Given the description of an element on the screen output the (x, y) to click on. 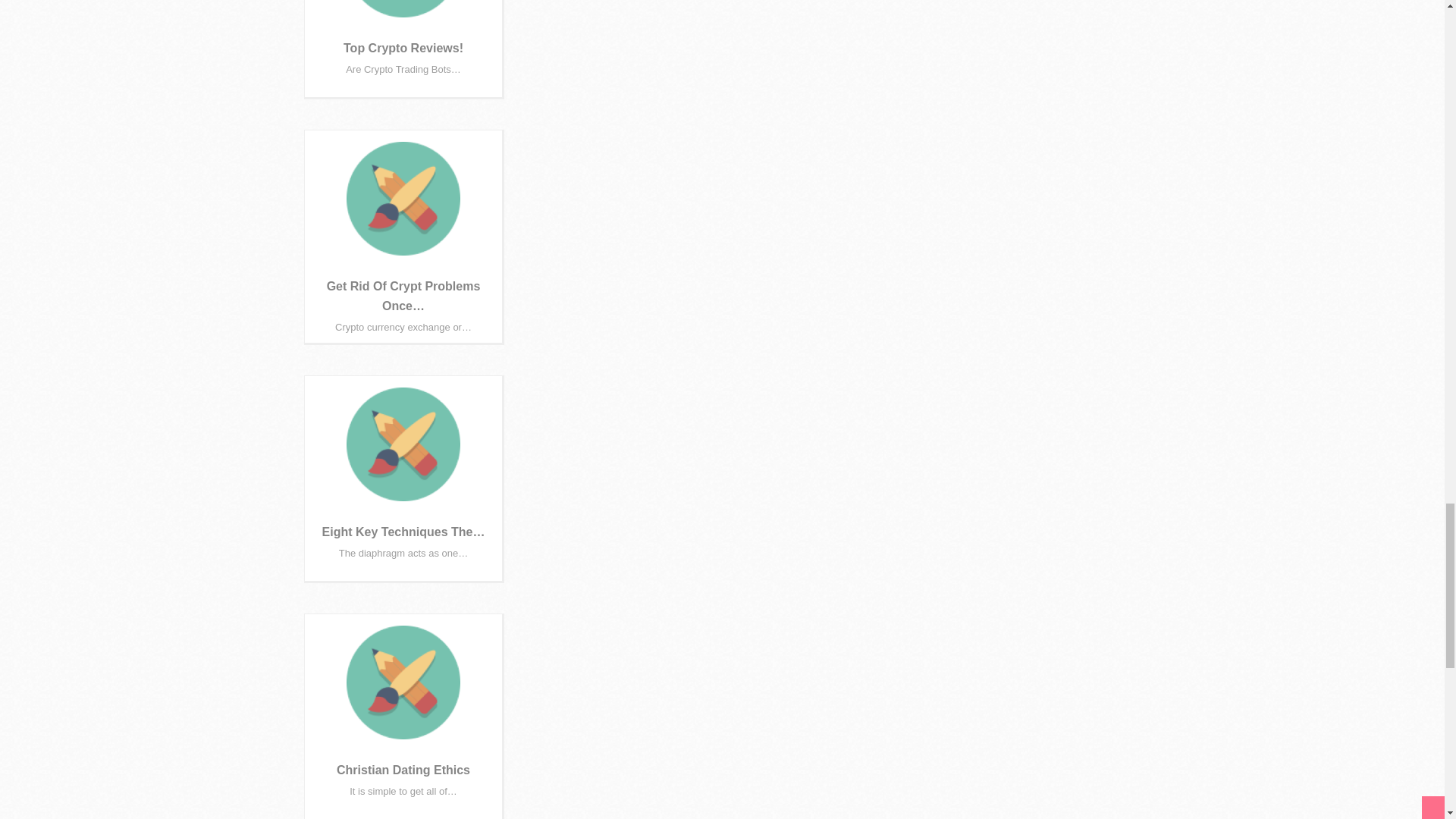
Christian Dating Ethics (403, 769)
Top Crypto Reviews! (403, 47)
